Given the description of an element on the screen output the (x, y) to click on. 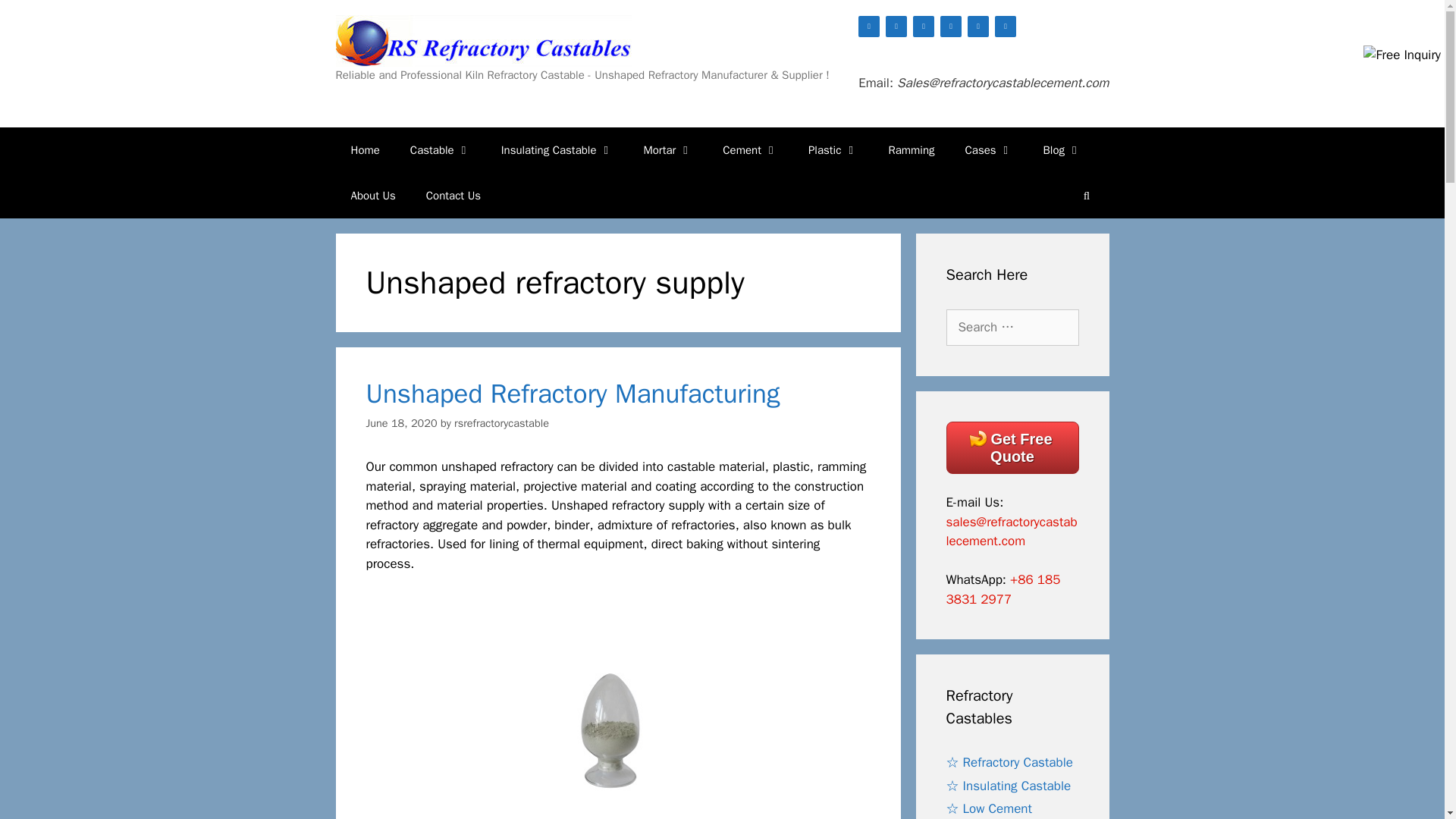
LinkedIn (978, 25)
Castable (440, 149)
Home (364, 149)
Search for: (1012, 327)
View all posts by rsrefractorycastable (501, 422)
Facebook (869, 25)
Instagram (1005, 25)
Mortar (667, 149)
Pinterest (896, 25)
WordPress (950, 25)
